Given the description of an element on the screen output the (x, y) to click on. 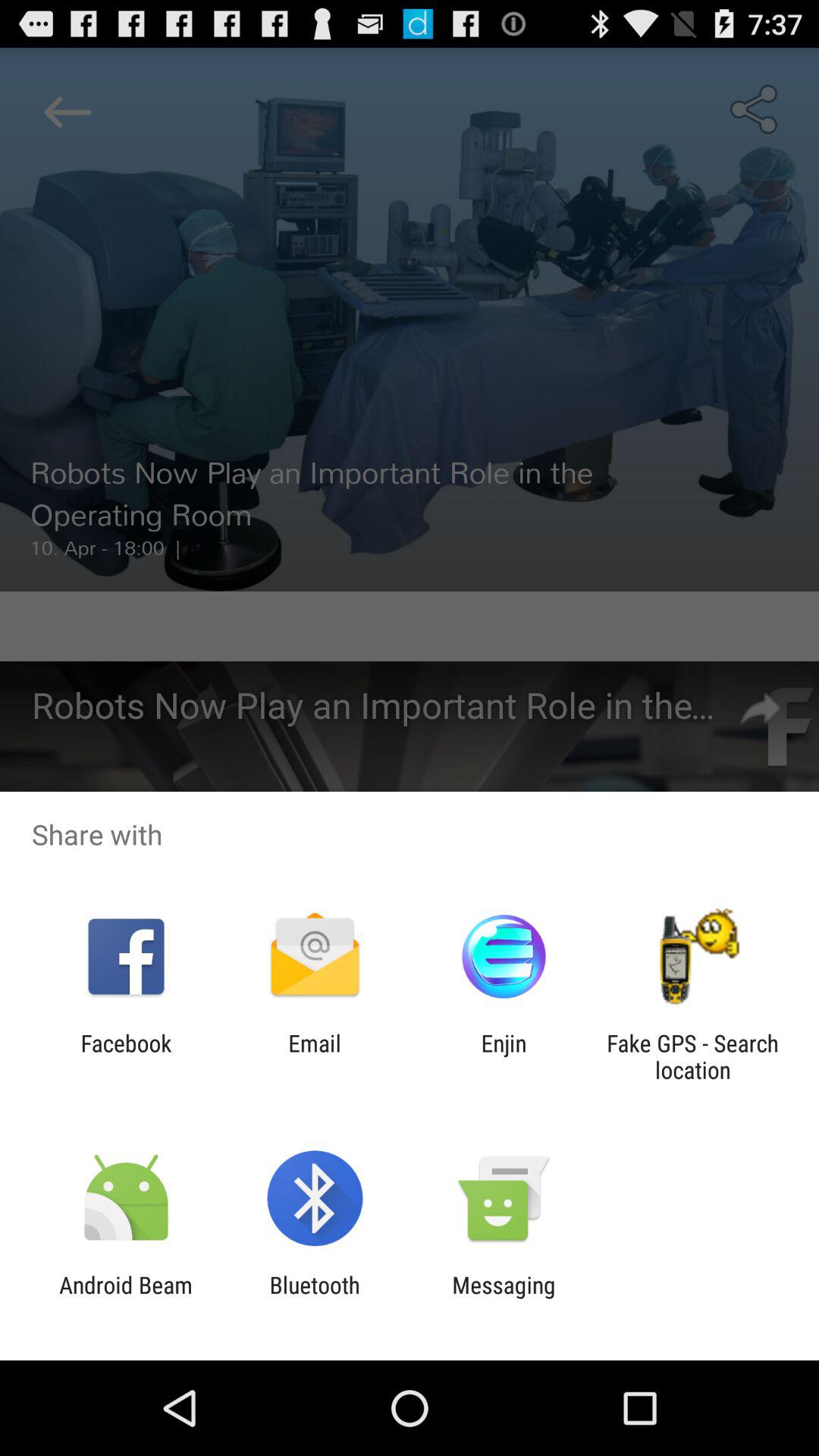
turn on item next to enjin (314, 1056)
